Given the description of an element on the screen output the (x, y) to click on. 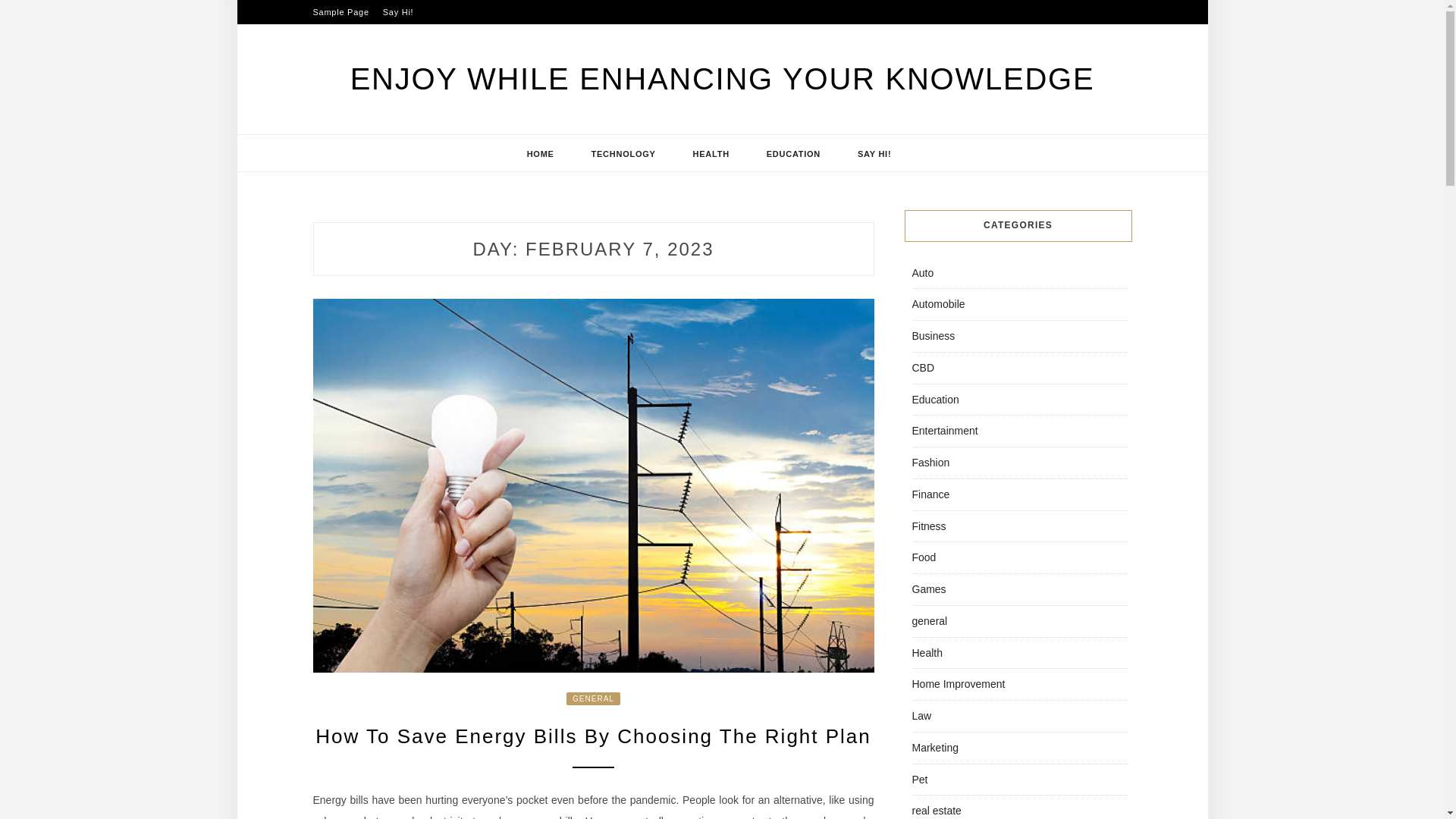
Business (933, 336)
real estate (935, 810)
Fashion (930, 462)
Pet (919, 779)
Law (921, 715)
Marketing (934, 747)
GENERAL (593, 698)
Games (927, 589)
How To Save Energy Bills By Choosing The Right Plan (592, 735)
Automobile (937, 304)
CBD (922, 367)
EDUCATION (793, 153)
Auto (922, 272)
ENJOY WHILE ENHANCING YOUR KNOWLEDGE (722, 78)
Health (926, 652)
